Given the description of an element on the screen output the (x, y) to click on. 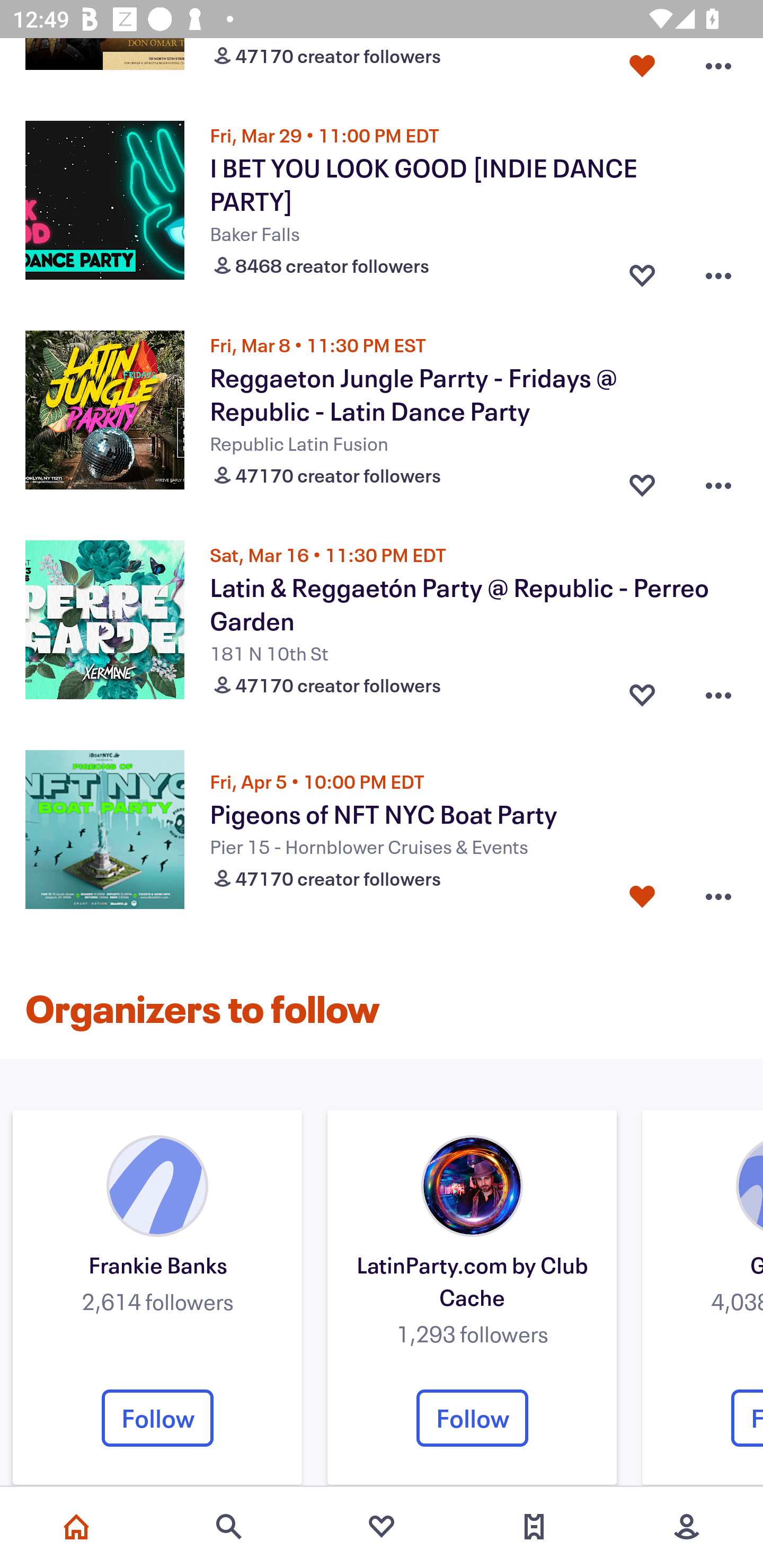
Favorite button (642, 66)
Overflow menu button (718, 66)
Favorite button (642, 271)
Overflow menu button (718, 271)
Favorite button (642, 480)
Overflow menu button (718, 480)
Favorite button (642, 690)
Overflow menu button (718, 690)
Favorite button (642, 896)
Overflow menu button (718, 896)
Follow Organizer's follow button (157, 1418)
Follow Organizer's follow button (471, 1418)
Home (76, 1526)
Search events (228, 1526)
Favorites (381, 1526)
Tickets (533, 1526)
More (686, 1526)
